Given the description of an element on the screen output the (x, y) to click on. 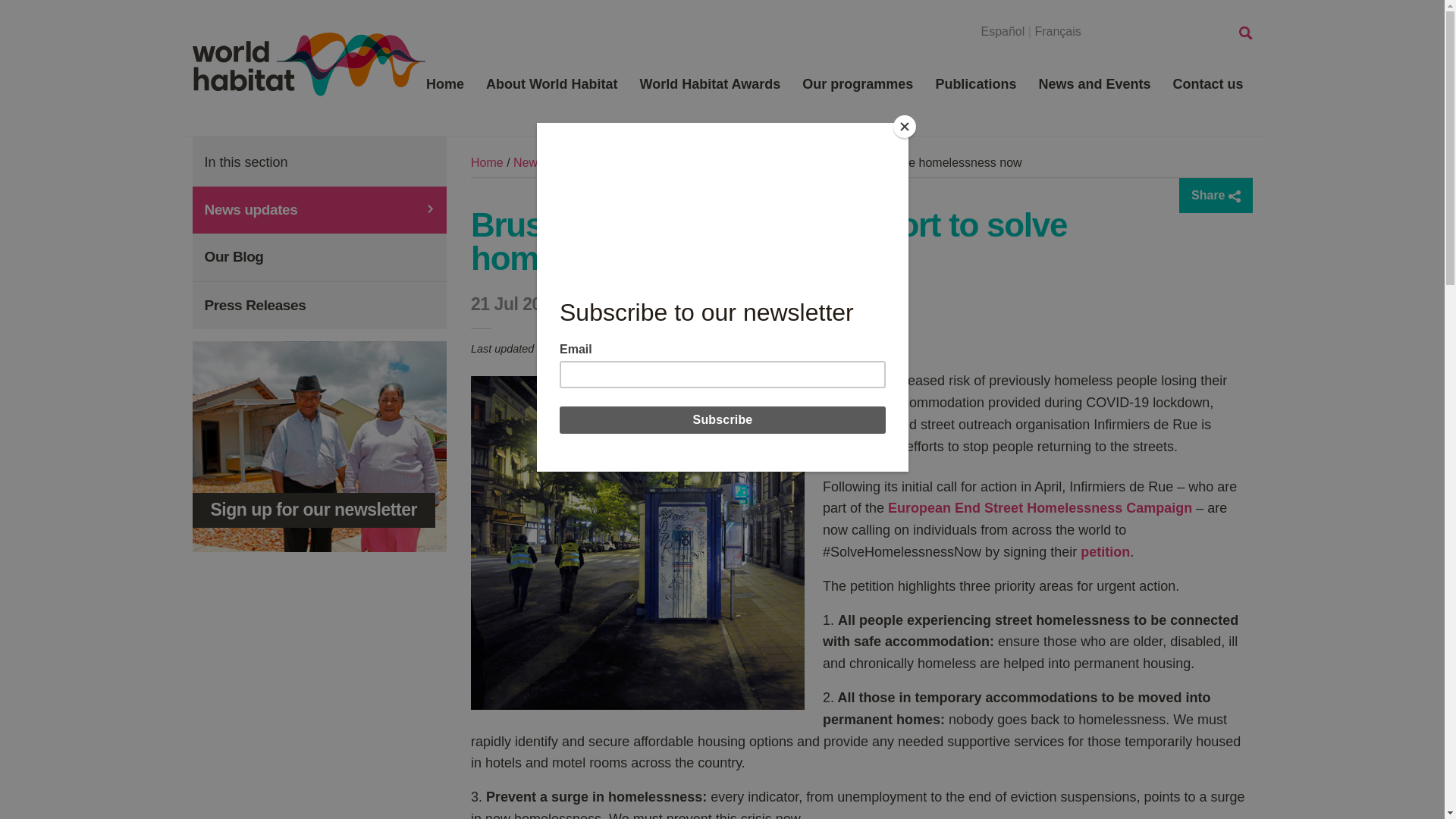
World Habitat Awards (710, 85)
News and Events (560, 162)
Our programmes (857, 85)
Our Blog (319, 257)
News updates (319, 209)
News updates (655, 162)
News and Events (1093, 85)
Contact us (1207, 85)
About World Habitat (552, 85)
Share (1215, 195)
Publications (975, 85)
Home (486, 162)
Home (444, 85)
Press Releases (319, 305)
